Given the description of an element on the screen output the (x, y) to click on. 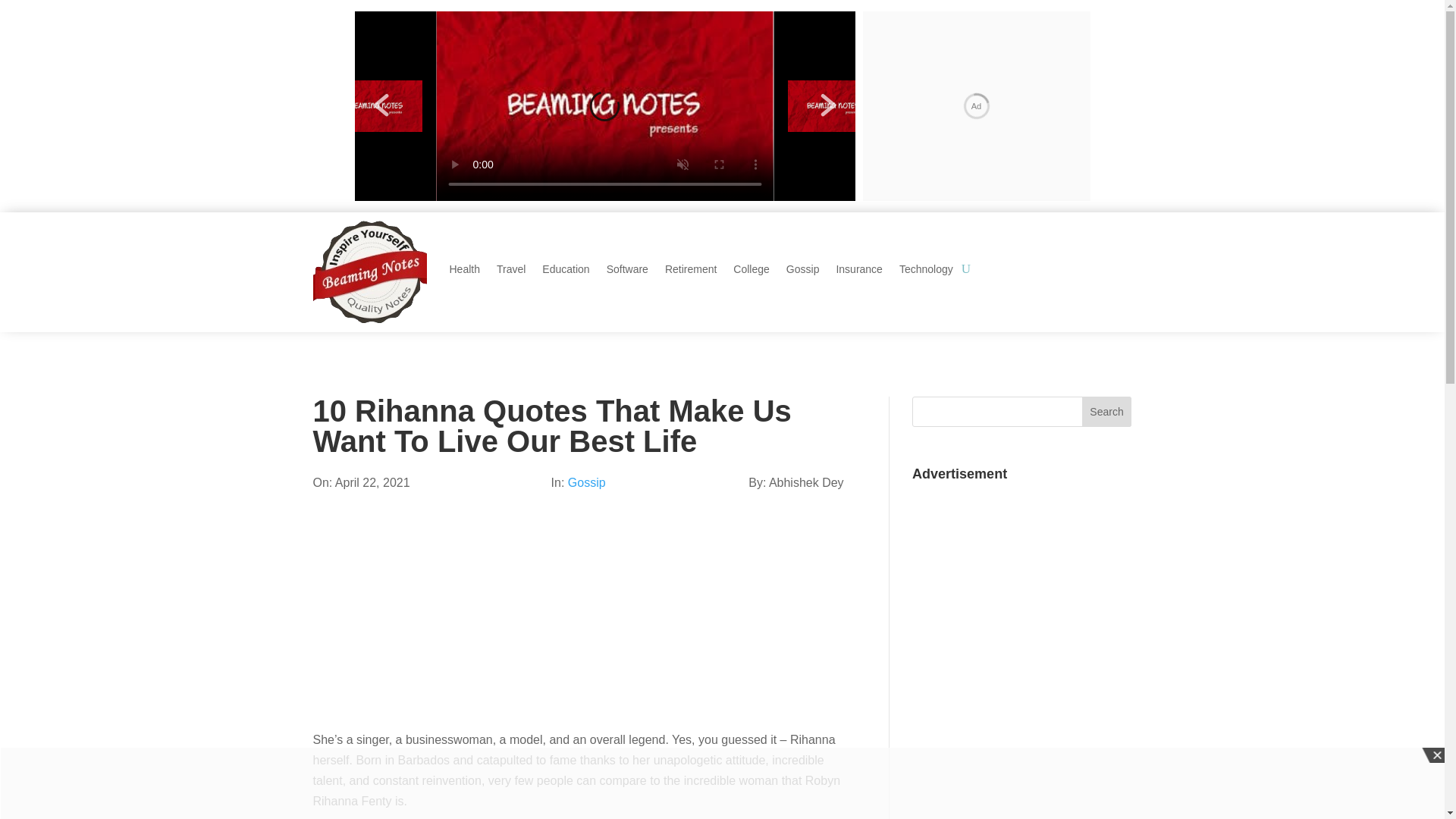
Gossip (586, 481)
Advertisement (578, 622)
Search (1106, 411)
Previous (381, 106)
Advertisement (1026, 583)
Advertisement (1026, 751)
Next (828, 106)
Search (1106, 411)
